Given the description of an element on the screen output the (x, y) to click on. 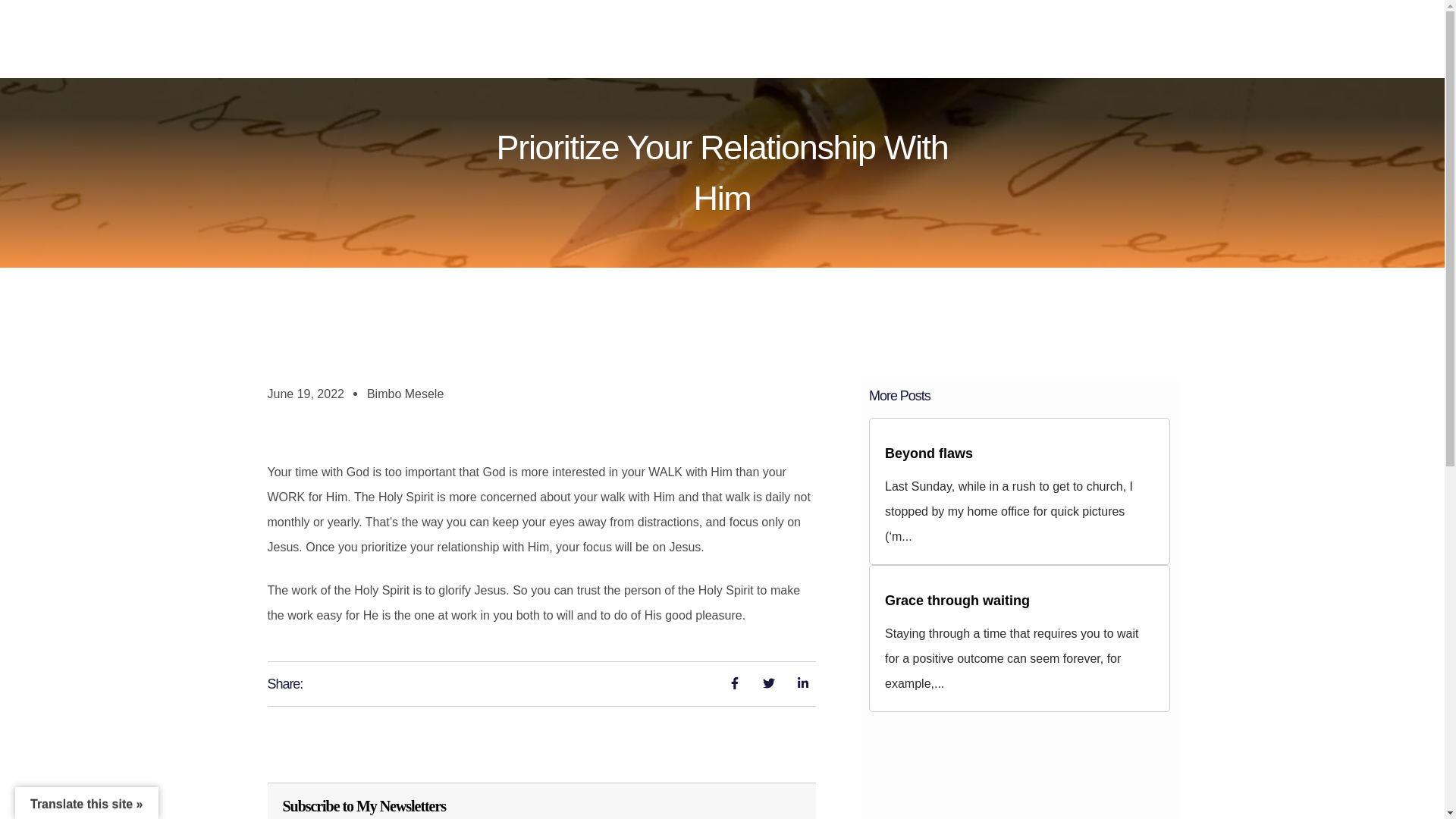
Bimbo Mesele (405, 393)
Grace through waiting (957, 600)
June 19, 2022 (304, 393)
Beyond flaws (928, 453)
